Given the description of an element on the screen output the (x, y) to click on. 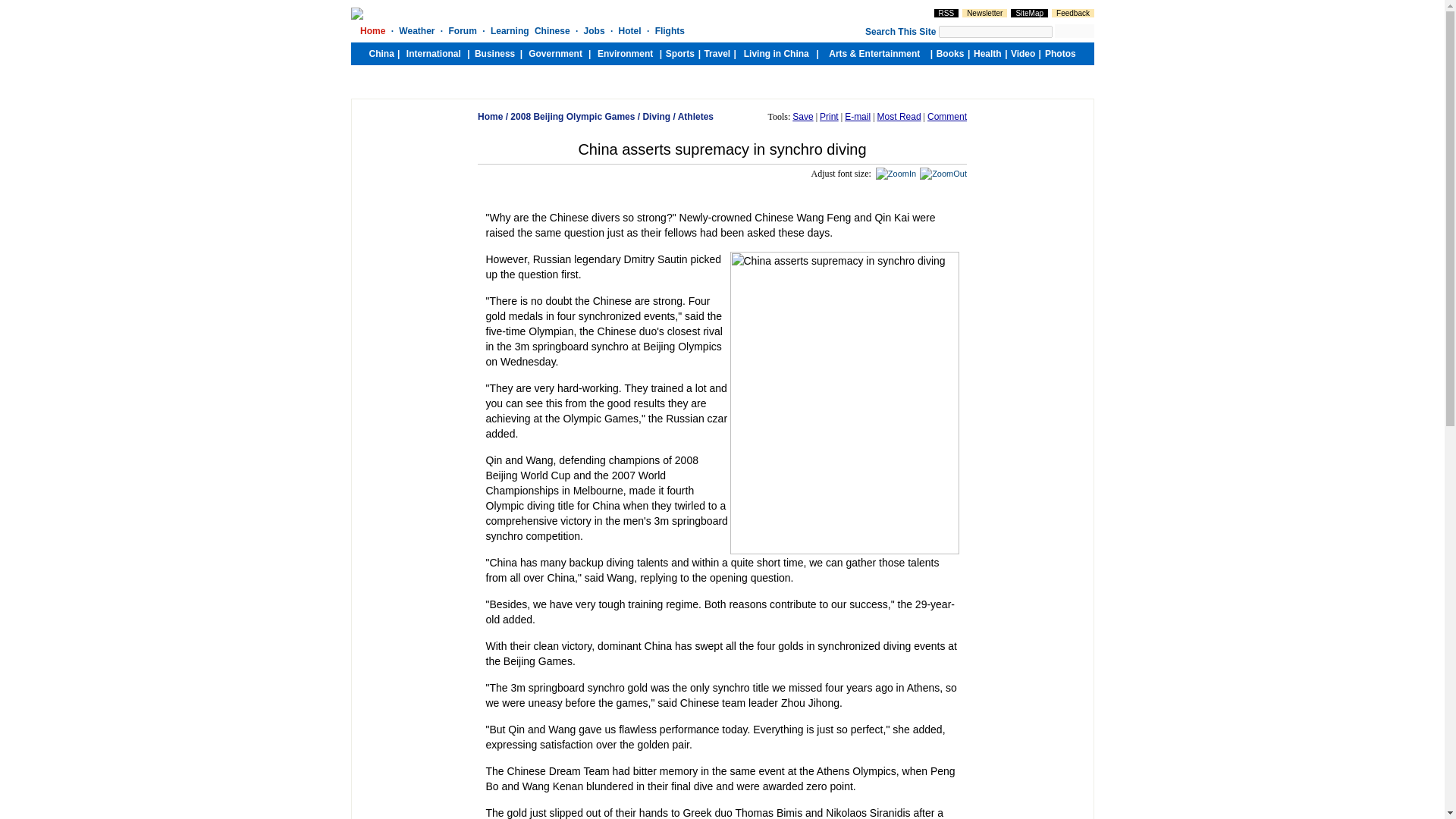
Home (489, 116)
E-mail (857, 116)
China asserts supremacy in synchro diving (843, 402)
Athletes (695, 116)
Comment (946, 116)
Save (802, 116)
2008 Beijing Olympic Games (572, 116)
Diving (655, 116)
Most Read (899, 116)
Print (828, 116)
